Given the description of an element on the screen output the (x, y) to click on. 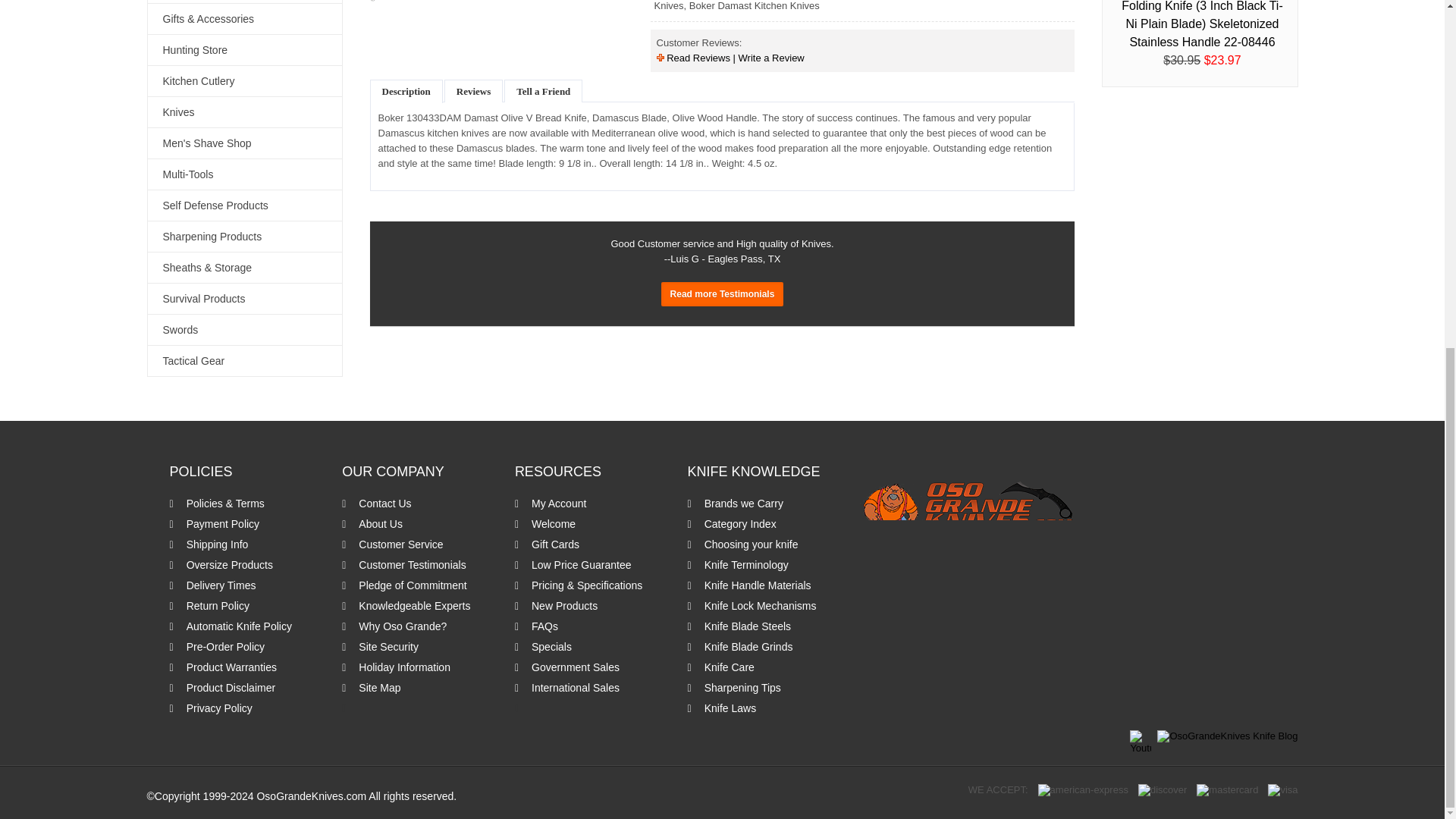
Visa (1282, 789)
OsoGrandeKnives Knife Blog (1227, 736)
MasterCard (1226, 789)
Discover (1162, 789)
American Express (1083, 789)
